Given the description of an element on the screen output the (x, y) to click on. 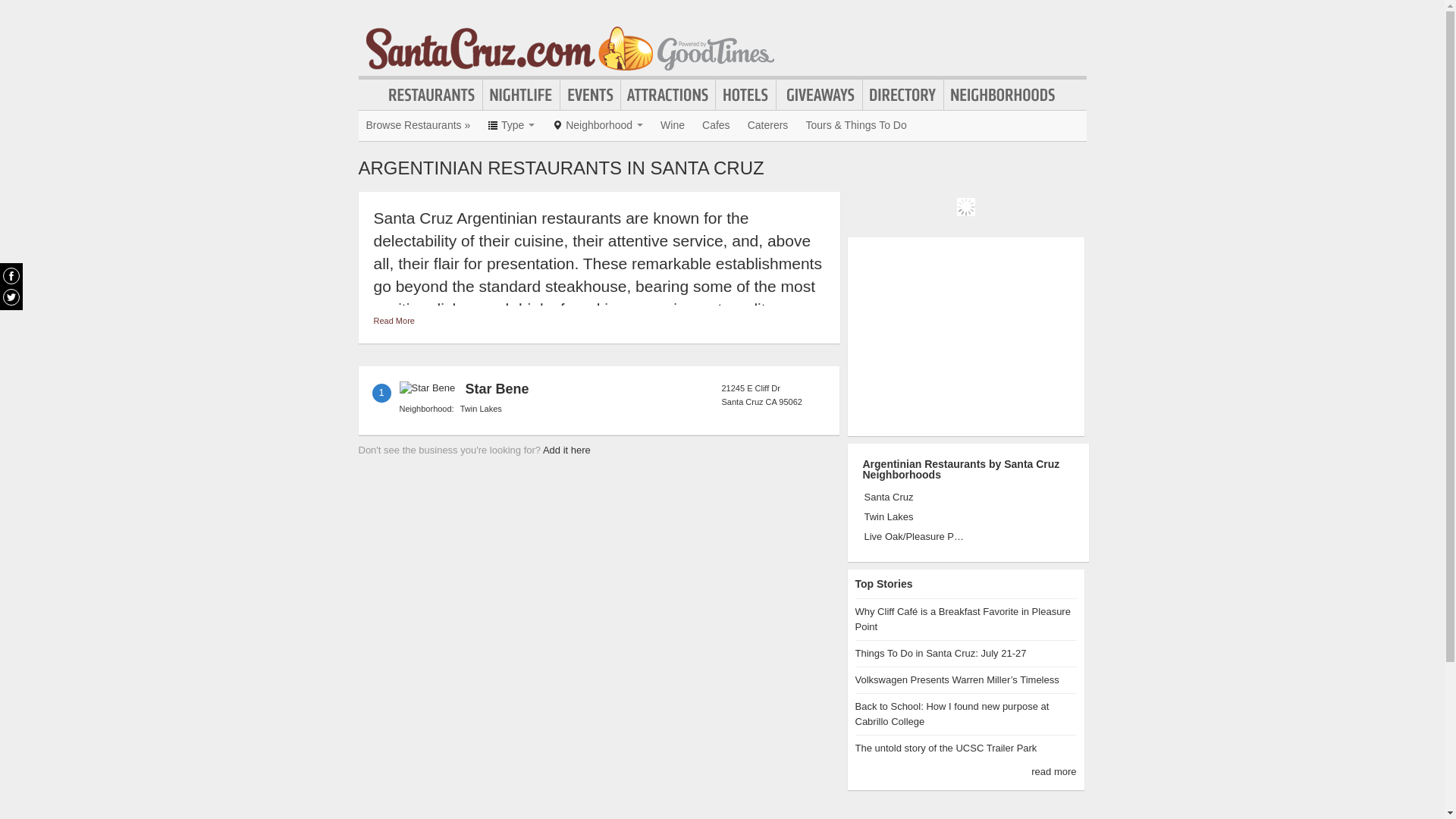
Nightlife (521, 94)
Events (590, 94)
Type (510, 124)
Directory (903, 94)
Giveaways (818, 94)
Attractions (667, 94)
Hotels (746, 94)
Neighborhoods (1002, 94)
Restaurants (431, 94)
